Given the description of an element on the screen output the (x, y) to click on. 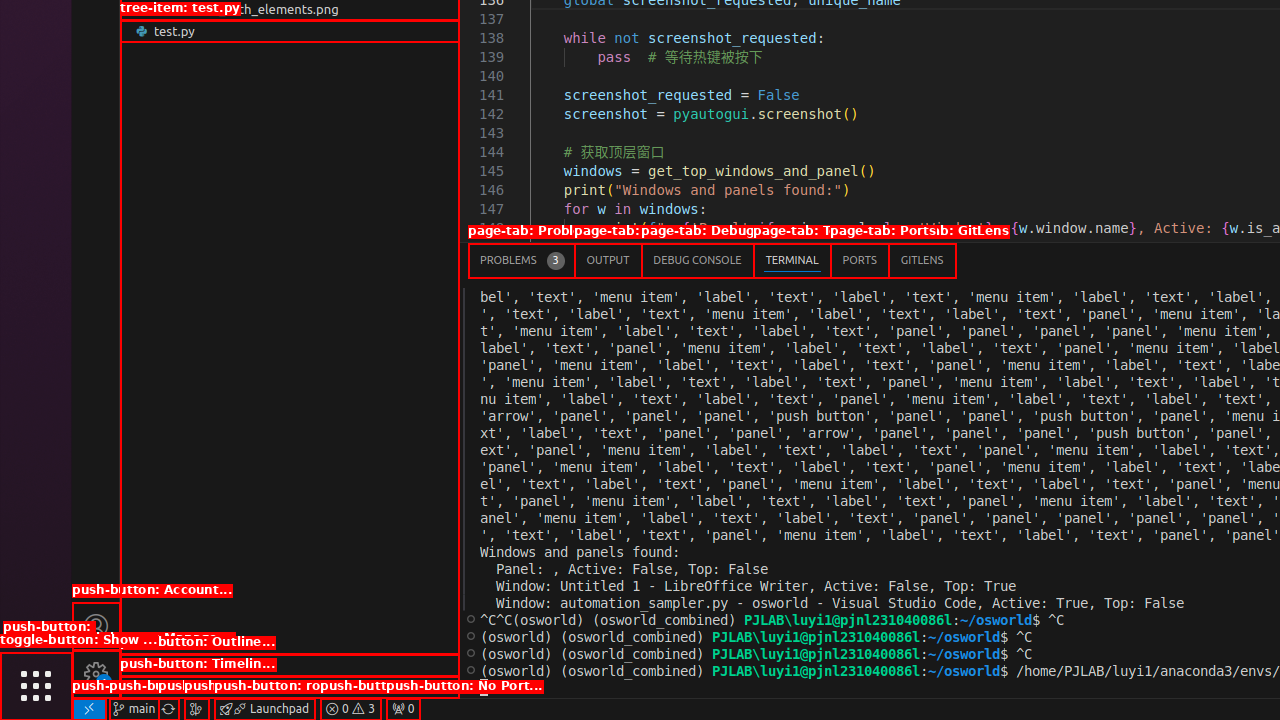
Outline Section Element type: push-button (289, 665)
Active View Switcher Element type: page-tab-list (712, 260)
Debug Console (Ctrl+Shift+Y) Element type: page-tab (697, 260)
Warnings: 3 Element type: push-button (350, 709)
Terminal (Ctrl+`) Element type: page-tab (792, 260)
